Given the description of an element on the screen output the (x, y) to click on. 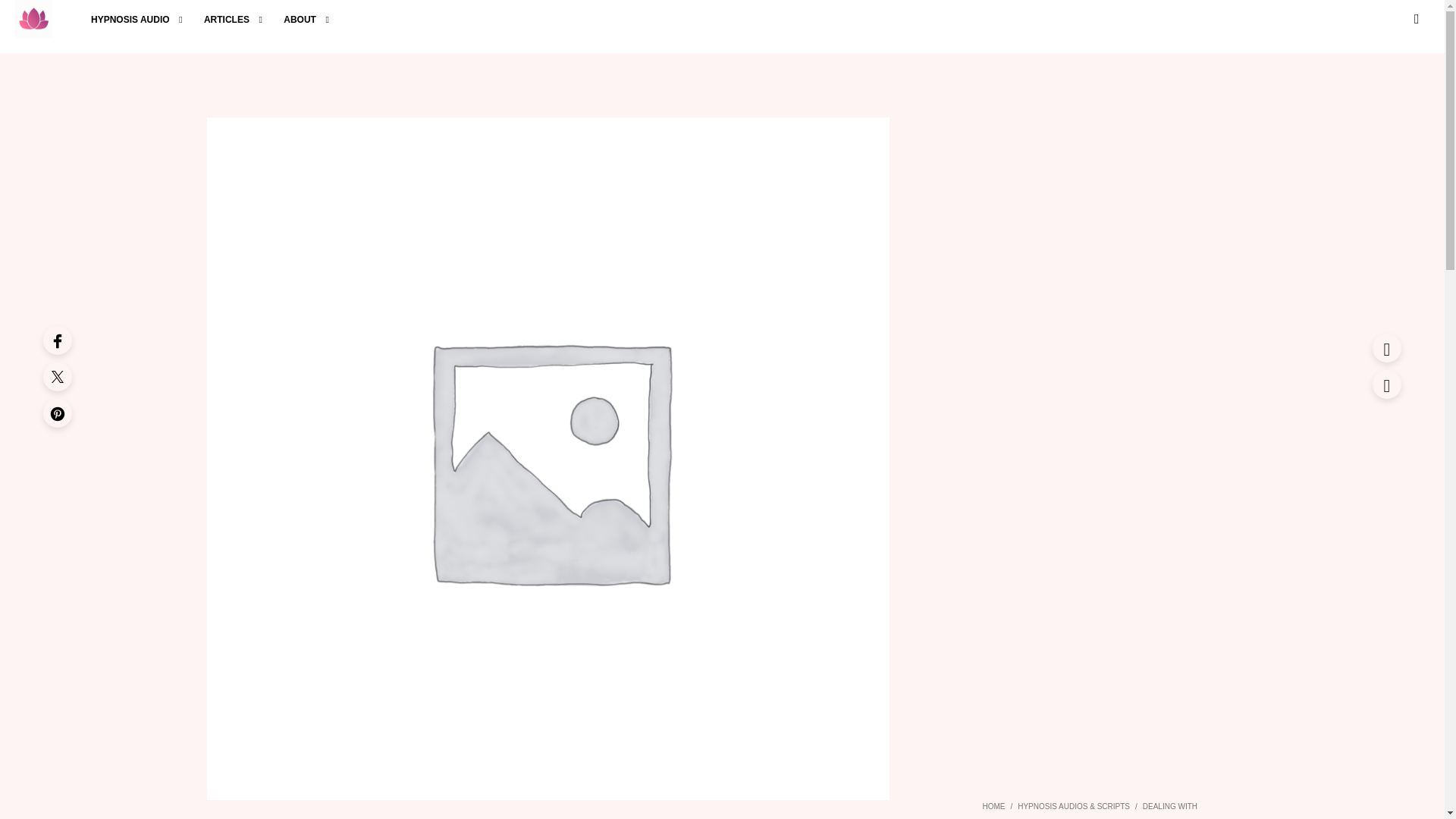
HYPNOSIS AUDIO (130, 19)
